Given the description of an element on the screen output the (x, y) to click on. 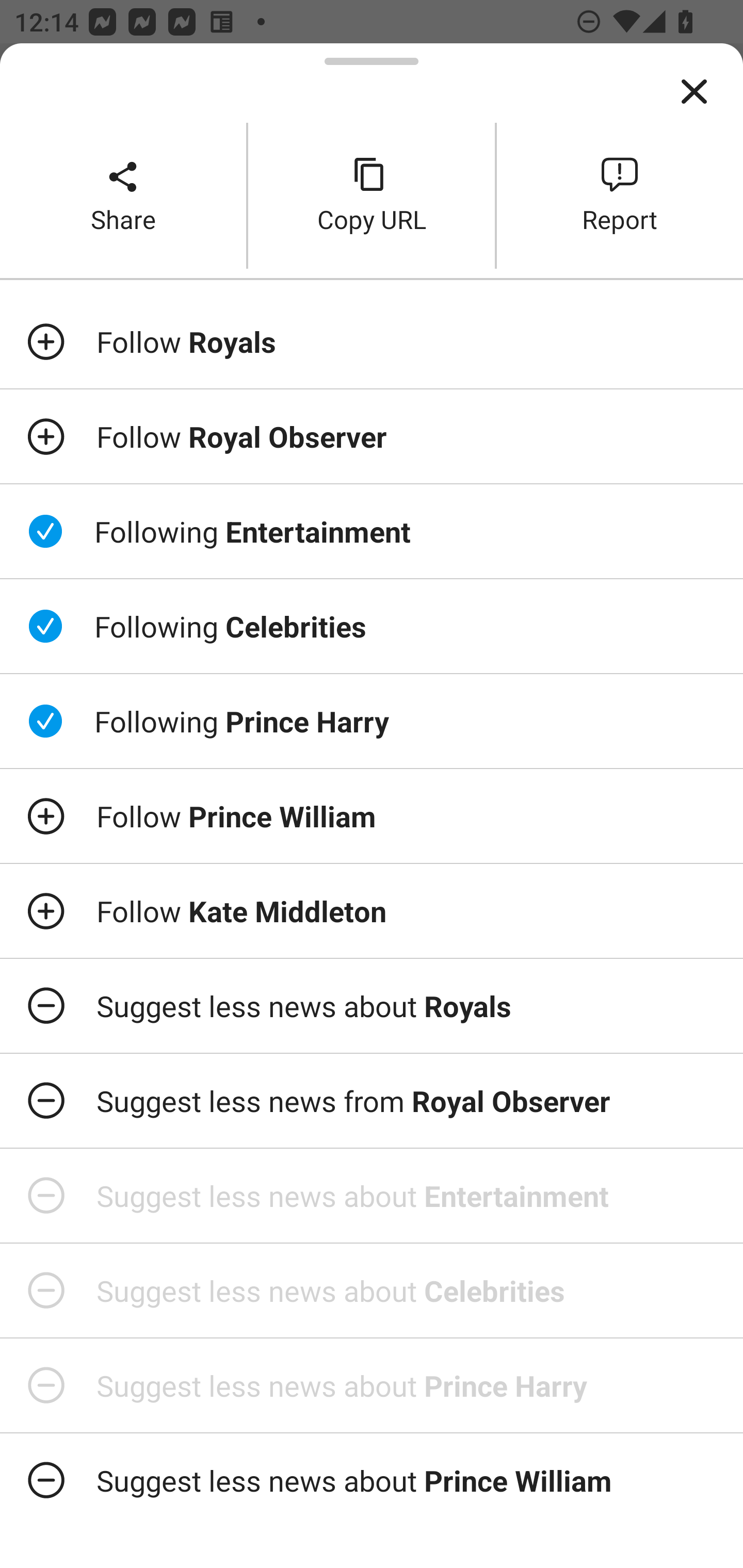
Close (694, 91)
Share (122, 195)
Copy URL (371, 195)
Report (620, 195)
Follow Royals (371, 341)
Follow Royal Observer (371, 435)
Following Entertainment (371, 531)
Following Celebrities (371, 625)
Following Prince Harry (371, 721)
Follow Prince William (371, 815)
Follow Kate Middleton (371, 910)
Suggest less news about Royals (371, 1005)
Suggest less news from Royal Observer (371, 1100)
Suggest less news about Prince William (371, 1469)
